Given the description of an element on the screen output the (x, y) to click on. 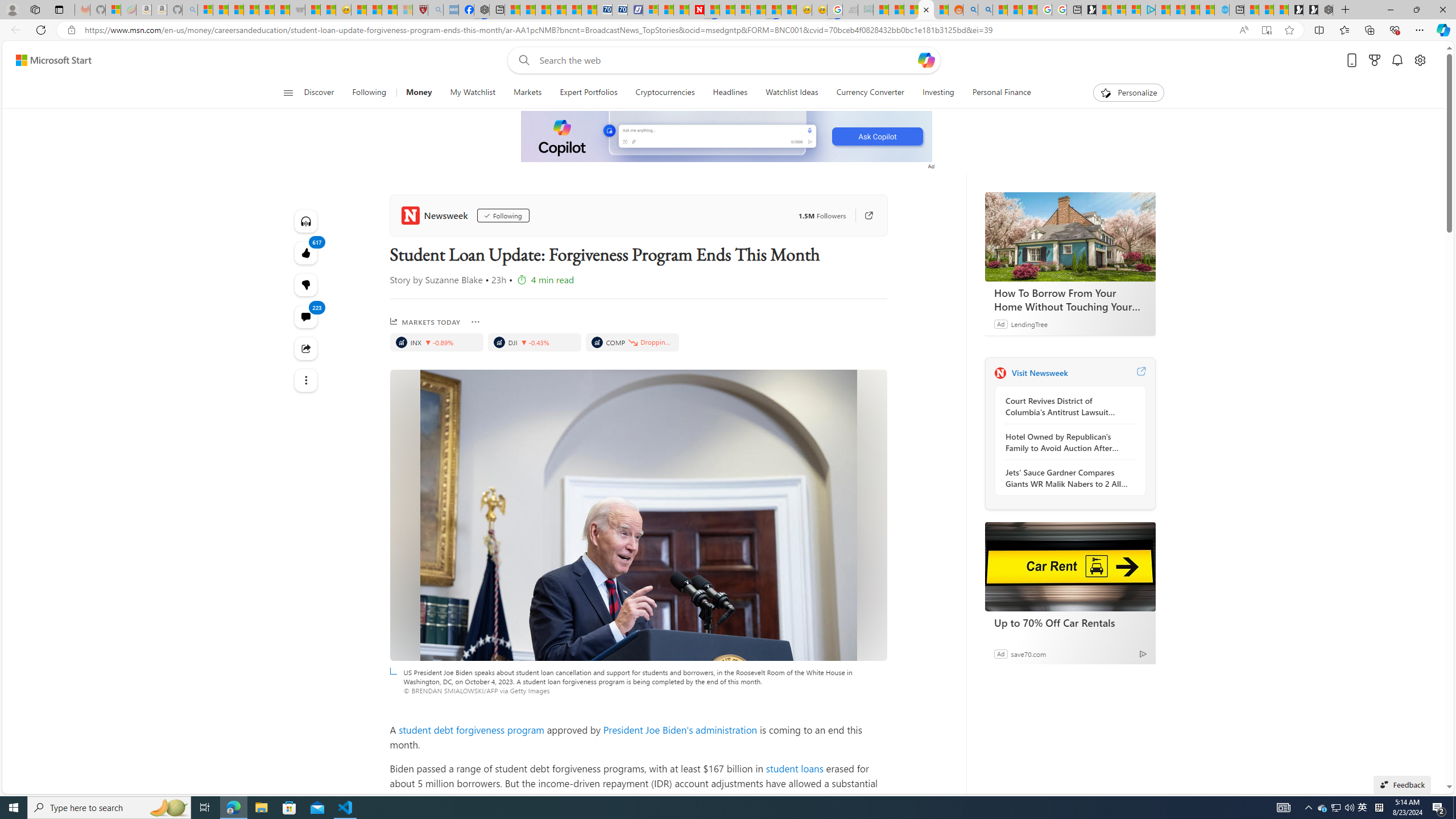
student loans (794, 768)
Cryptocurrencies (664, 92)
Investing (937, 92)
Headlines (729, 92)
